Given the description of an element on the screen output the (x, y) to click on. 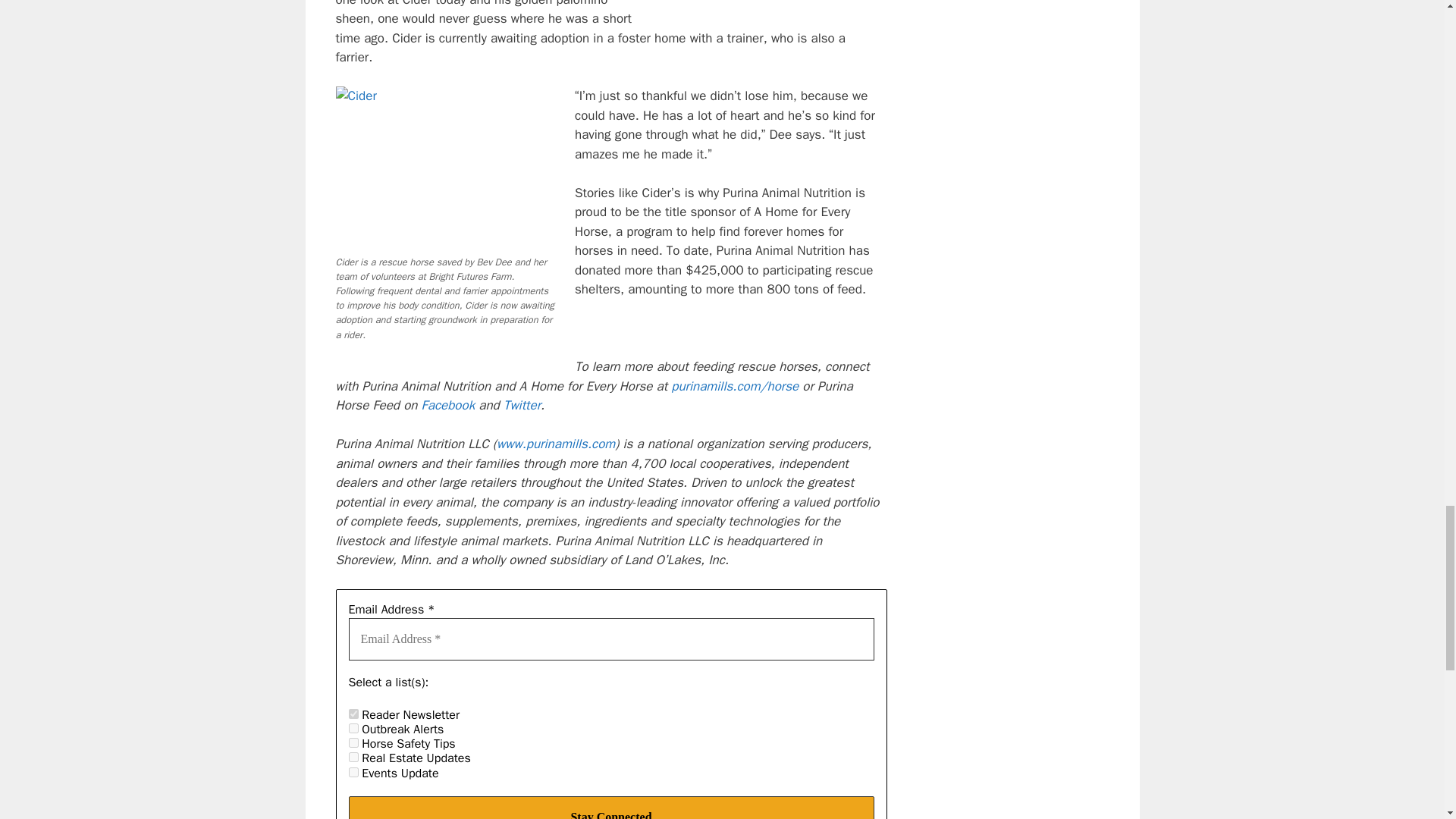
18 (353, 728)
16 (353, 757)
14 (353, 742)
Stay Connected (612, 807)
Email Address (612, 639)
19 (353, 772)
17 (353, 714)
